Given the description of an element on the screen output the (x, y) to click on. 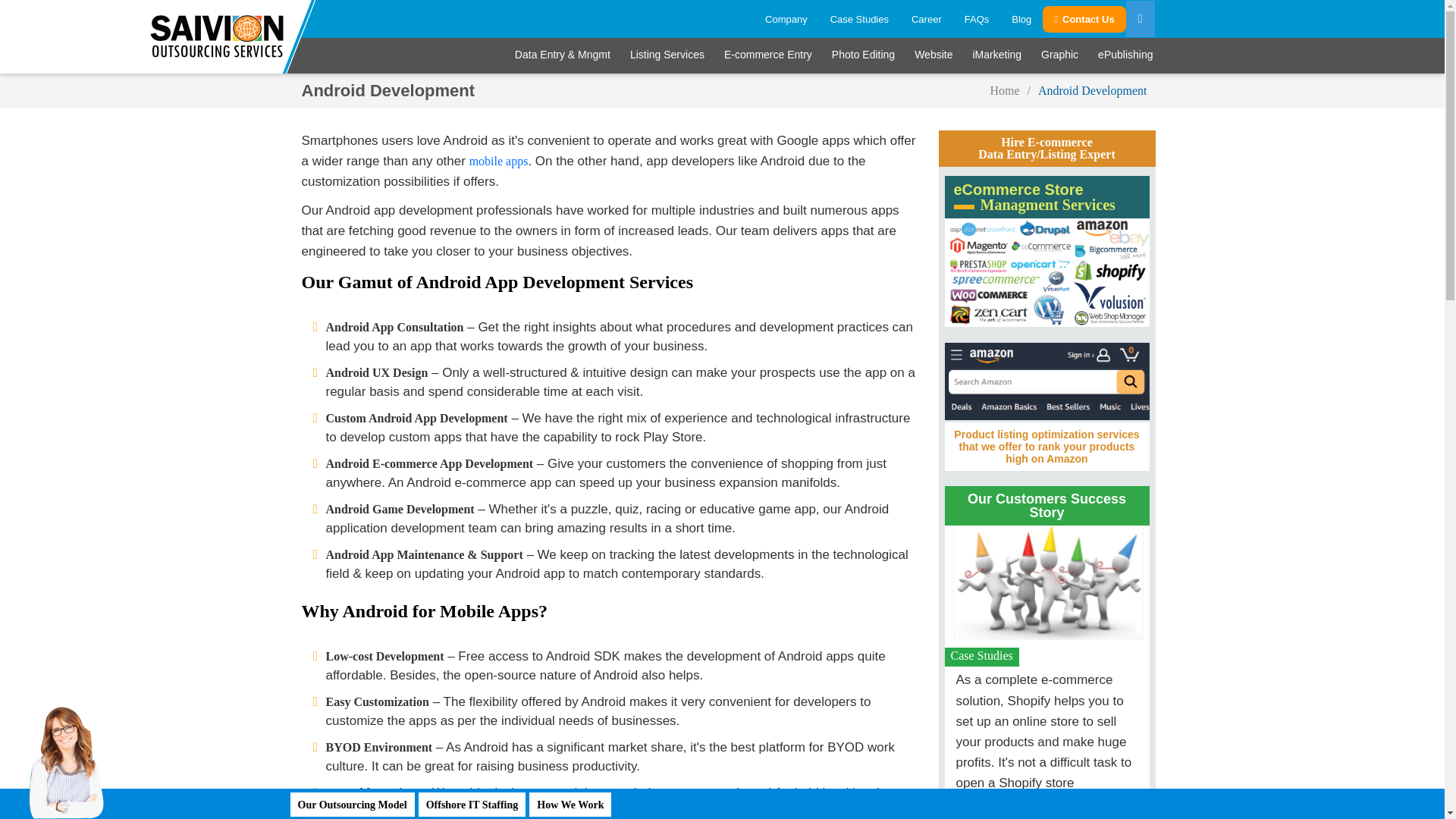
FAQs (977, 18)
Listing Services (667, 54)
Blog (1021, 18)
E-commerce Entry (768, 54)
Case Studies (858, 18)
Contact Us (1083, 18)
Company (786, 18)
Career (926, 18)
